Given the description of an element on the screen output the (x, y) to click on. 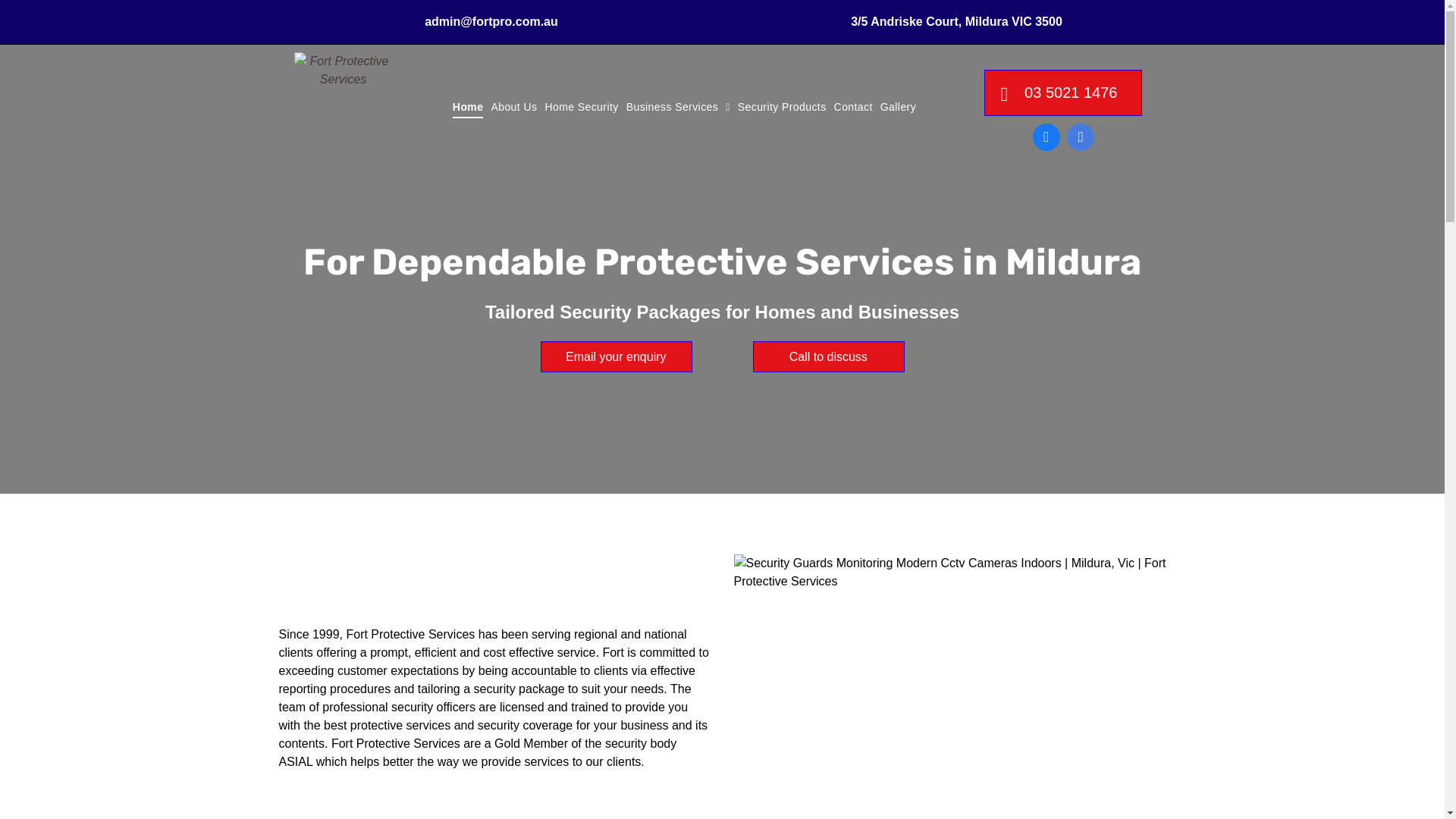
Home Element type: text (467, 107)
Gallery Element type: text (897, 107)
03 5021 1476 Element type: text (1063, 92)
About Us Element type: text (513, 107)
Security Products Element type: text (782, 107)
admin@fortpro.com.au Element type: text (491, 21)
Call to discuss Element type: text (827, 356)
Contact Element type: text (853, 107)
Fort Protective Services Element type: hover (343, 106)
Home Security Element type: text (580, 107)
Business Services Element type: text (678, 107)
Email your enquiry Element type: text (615, 356)
3/5 Andriske Court, Mildura VIC 3500 Element type: text (956, 21)
